Given the description of an element on the screen output the (x, y) to click on. 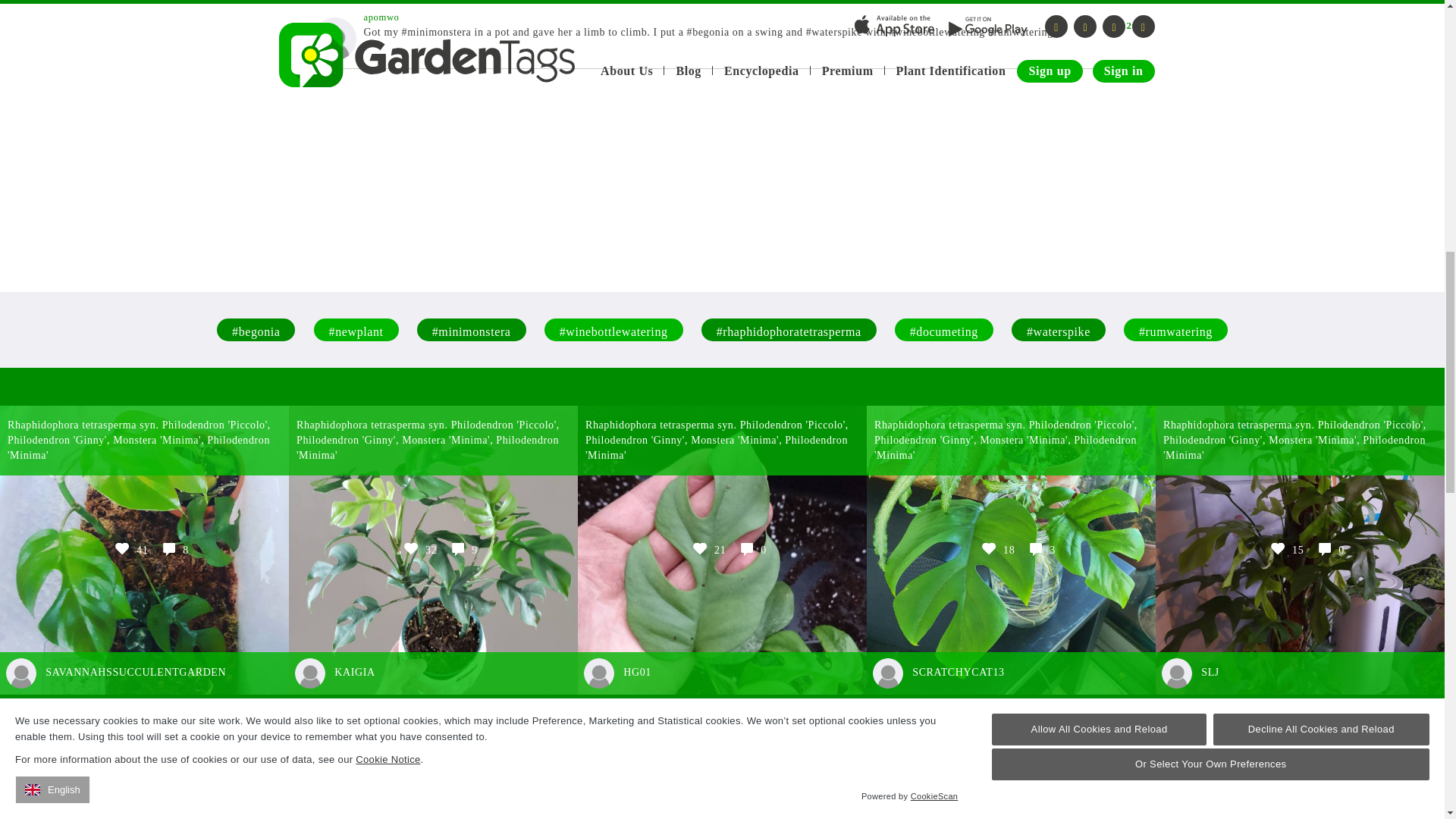
apomwo (381, 17)
